Given the description of an element on the screen output the (x, y) to click on. 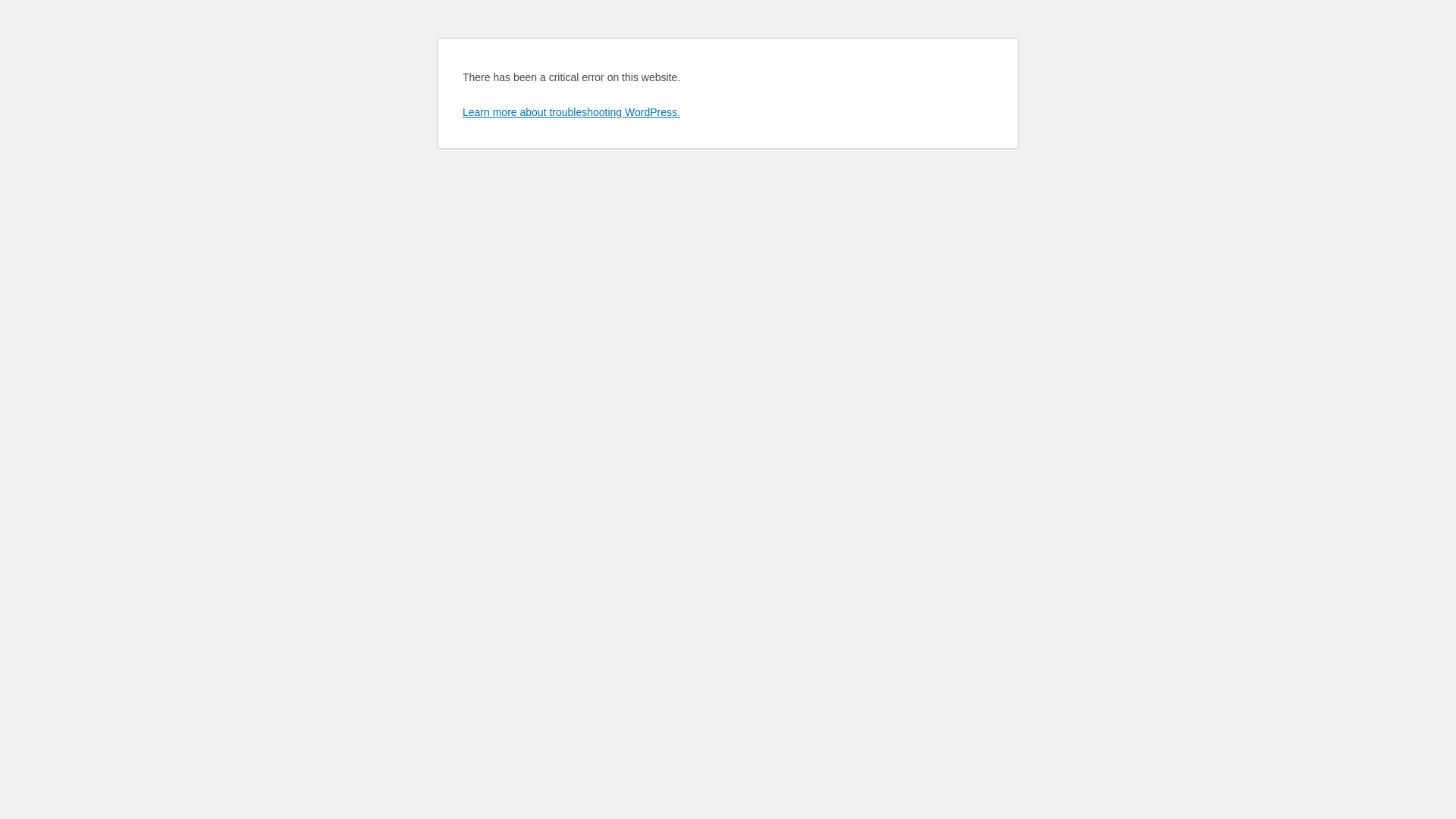
Learn more about troubleshooting WordPress. Element type: text (571, 112)
